Given the description of an element on the screen output the (x, y) to click on. 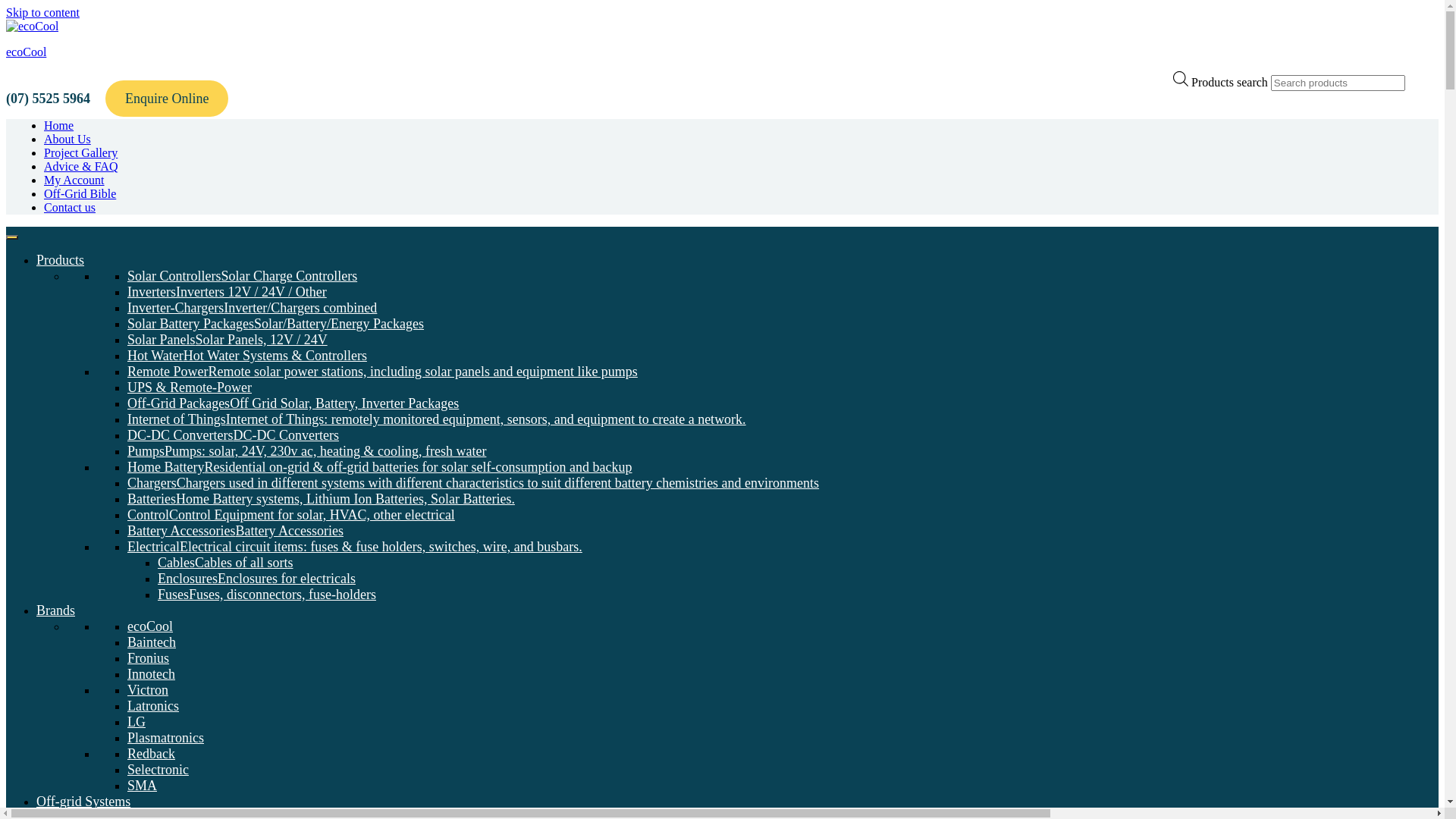
SMA Element type: text (141, 785)
Solar Battery PackagesSolar/Battery/Energy Packages Element type: text (275, 323)
LG Element type: text (136, 721)
Enquire Online Element type: text (166, 98)
About Us Element type: text (67, 138)
InvertersInverters 12V / 24V / Other Element type: text (226, 291)
Solar PanelsSolar Panels, 12V / 24V Element type: text (227, 339)
Redback Element type: text (151, 753)
ecoCool Element type: text (149, 625)
Hot WaterHot Water Systems & Controllers Element type: text (247, 355)
ecoCool Element type: text (26, 51)
CablesCables of all sorts Element type: text (224, 562)
(07) 5525 5964 Element type: text (48, 98)
Contact us Element type: text (69, 206)
Victron Element type: text (147, 689)
Baintech Element type: text (151, 641)
My Account Element type: text (73, 179)
FusesFuses, disconnectors, fuse-holders Element type: text (266, 594)
UPS & Remote-Power Element type: text (189, 387)
Products Element type: text (60, 259)
Off-Grid PackagesOff Grid Solar, Battery, Inverter Packages Element type: text (292, 403)
Brands Element type: text (55, 610)
Innotech Element type: text (151, 673)
EnclosuresEnclosures for electricals Element type: text (256, 578)
Inverter-ChargersInverter/Chargers combined Element type: text (251, 307)
Plasmatronics Element type: text (165, 737)
DC-DC ConvertersDC-DC Converters Element type: text (232, 434)
Advice & FAQ Element type: text (80, 166)
Solar ControllersSolar Charge Controllers Element type: text (242, 275)
Project Gallery Element type: text (80, 152)
Battery AccessoriesBattery Accessories Element type: text (235, 530)
Selectronic Element type: text (157, 769)
Skip to content Element type: text (42, 12)
Fronius Element type: text (148, 657)
ControlControl Equipment for solar, HVAC, other electrical Element type: text (291, 514)
Home Element type: text (58, 125)
Latronics Element type: text (152, 705)
Off-grid Systems Element type: text (83, 801)
Off-Grid Bible Element type: text (79, 193)
